Given the description of an element on the screen output the (x, y) to click on. 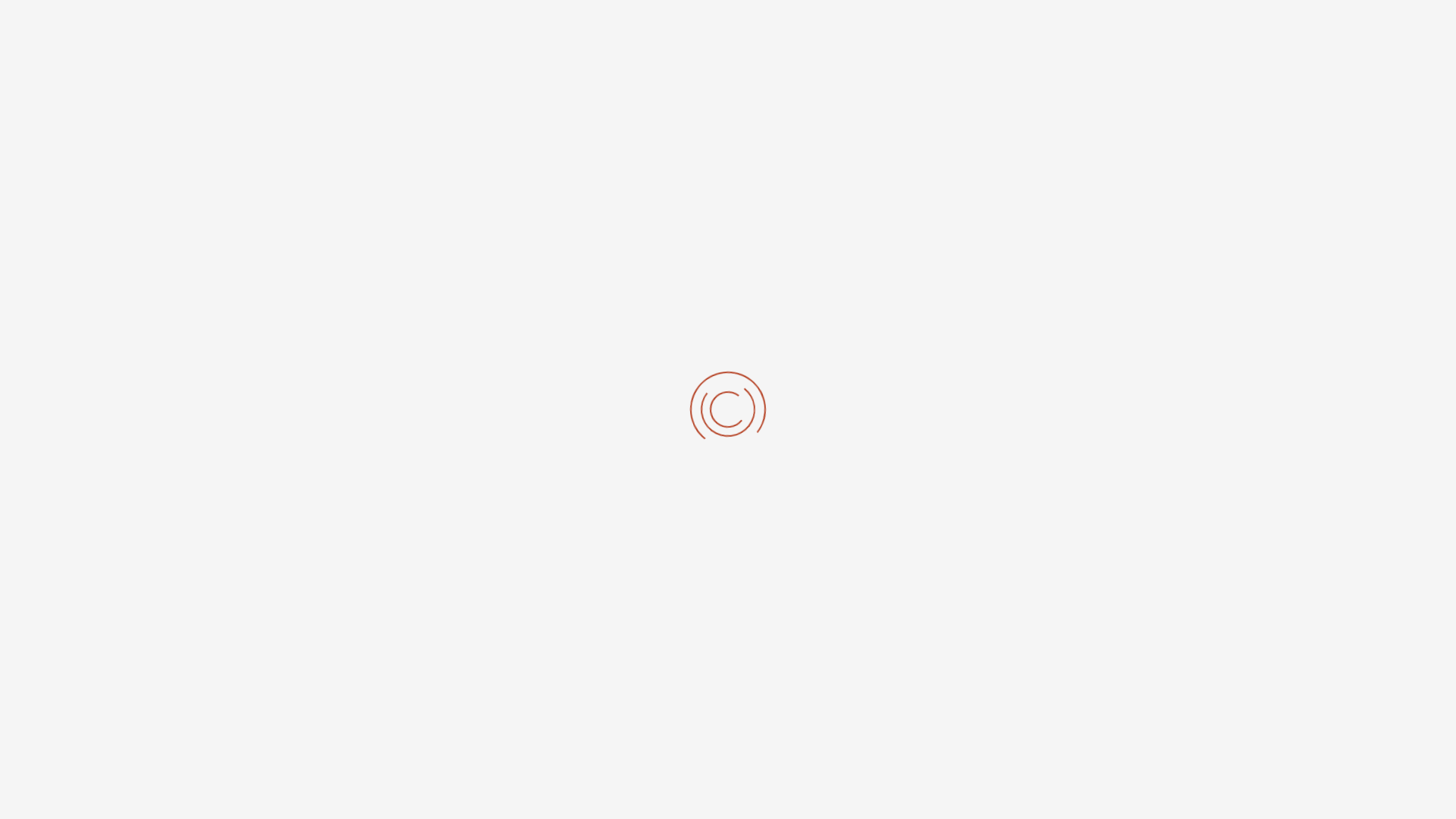
DOCUMENTATION Element type: text (1015, 34)
Share On Facebook Element type: hover (1038, 687)
License Overview Element type: text (696, 498)
Share On Google Plus Element type: hover (1100, 687)
Share On Twitter Element type: hover (1069, 687)
DOWNLOAD Element type: text (1108, 34)
Prev Element type: text (338, 646)
Next Element type: text (1115, 646)
info@agendamaster.ch Element type: text (570, 340)
HOME Element type: text (724, 34)
LICENSE OVERVIEW Element type: text (808, 34)
BUY A LICENSE Element type: text (913, 34)
Share On Linkedin Element type: hover (1131, 687)
Uncategorised Element type: text (477, 222)
